Given the description of an element on the screen output the (x, y) to click on. 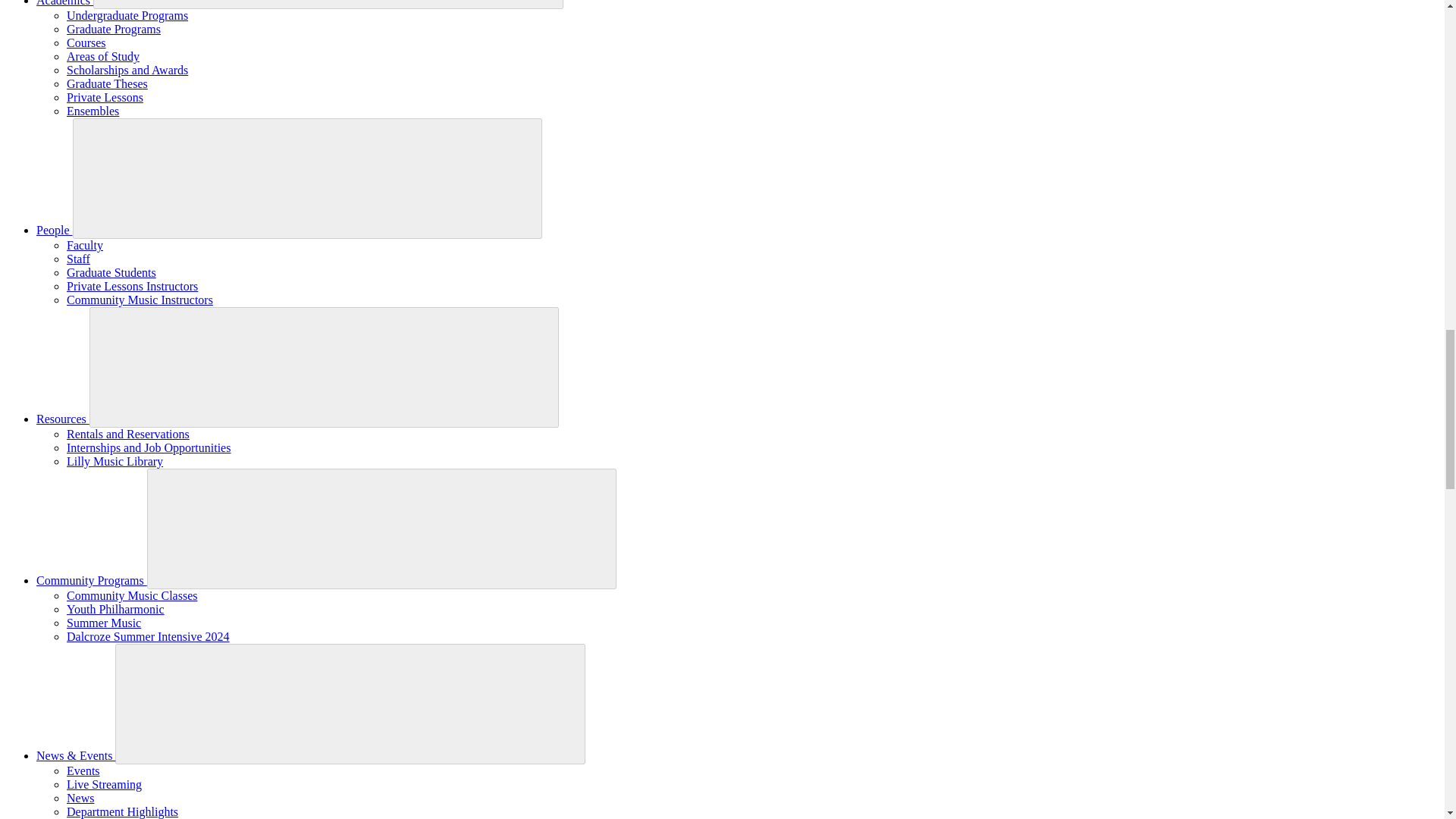
Courses (86, 42)
Undergraduate Programs (126, 15)
Areas of Study (102, 56)
Ensembles (92, 110)
Academics (64, 3)
Faculty (84, 245)
Graduate Theses (107, 83)
People (54, 229)
Graduate Programs (113, 29)
Scholarships and Awards (126, 69)
